Given the description of an element on the screen output the (x, y) to click on. 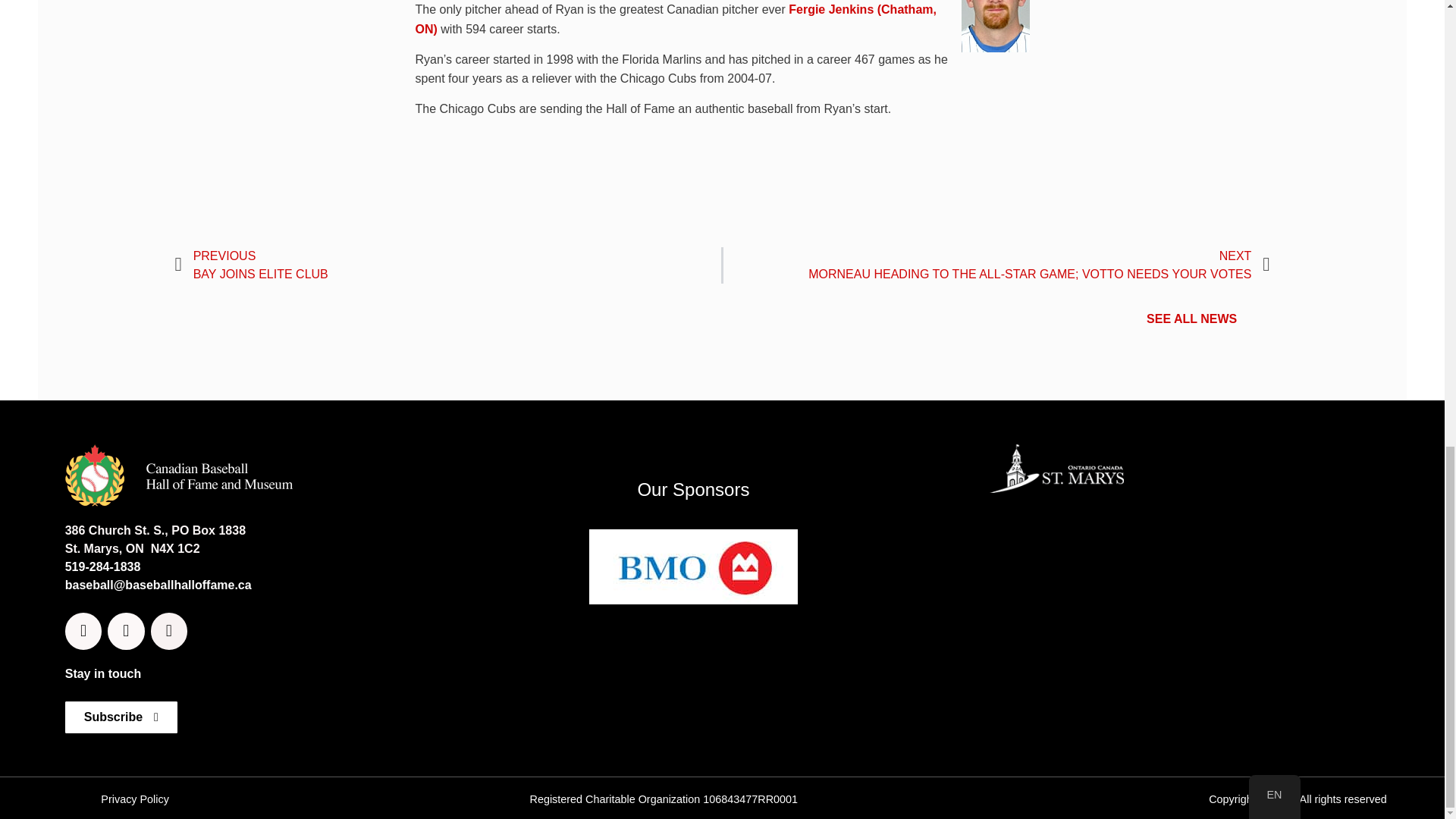
St Marys White (1055, 467)
386 Church St. South, St Marys, On (1174, 608)
Ryan Dempster (994, 26)
